Given the description of an element on the screen output the (x, y) to click on. 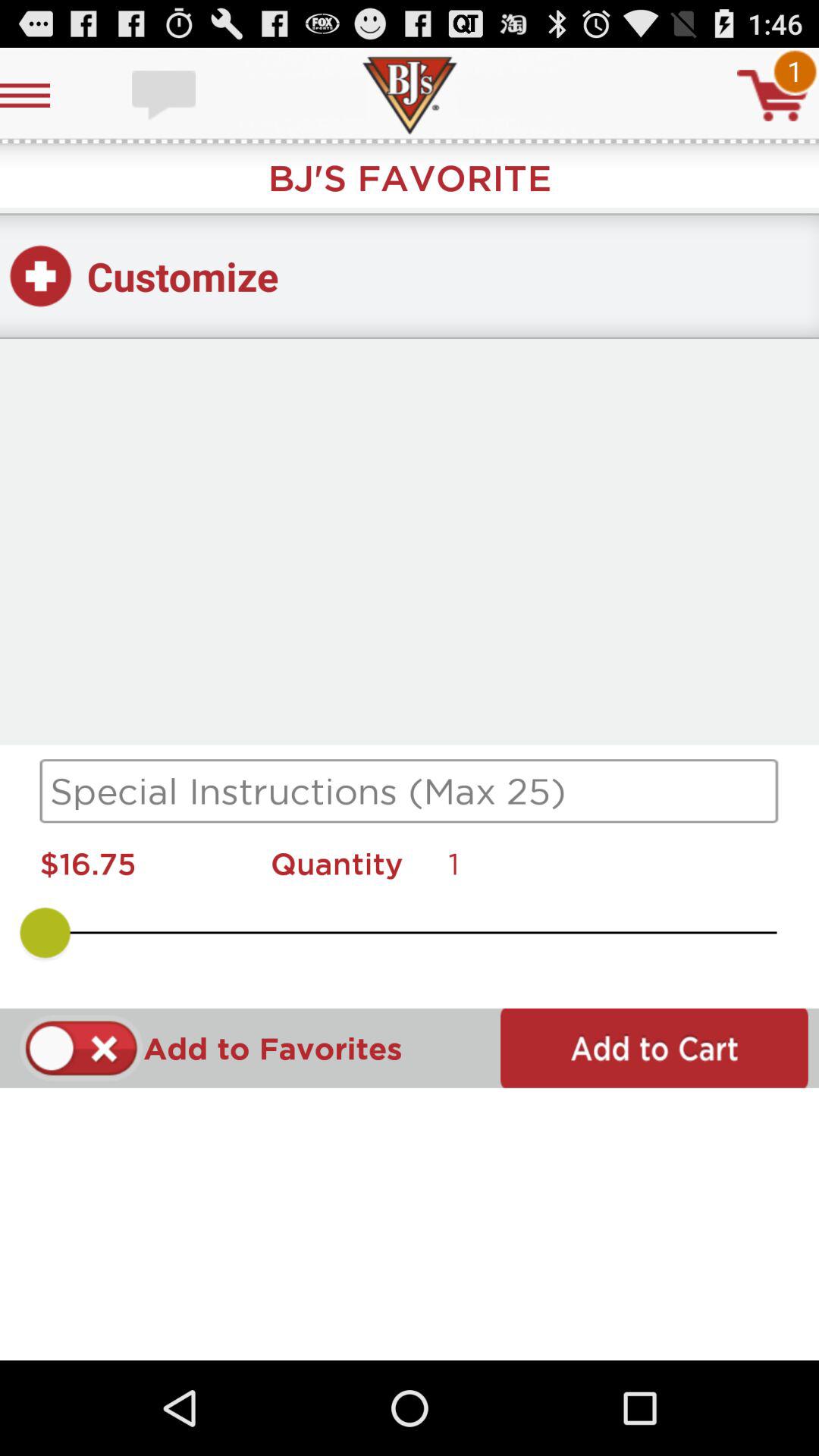
name (409, 790)
